Given the description of an element on the screen output the (x, y) to click on. 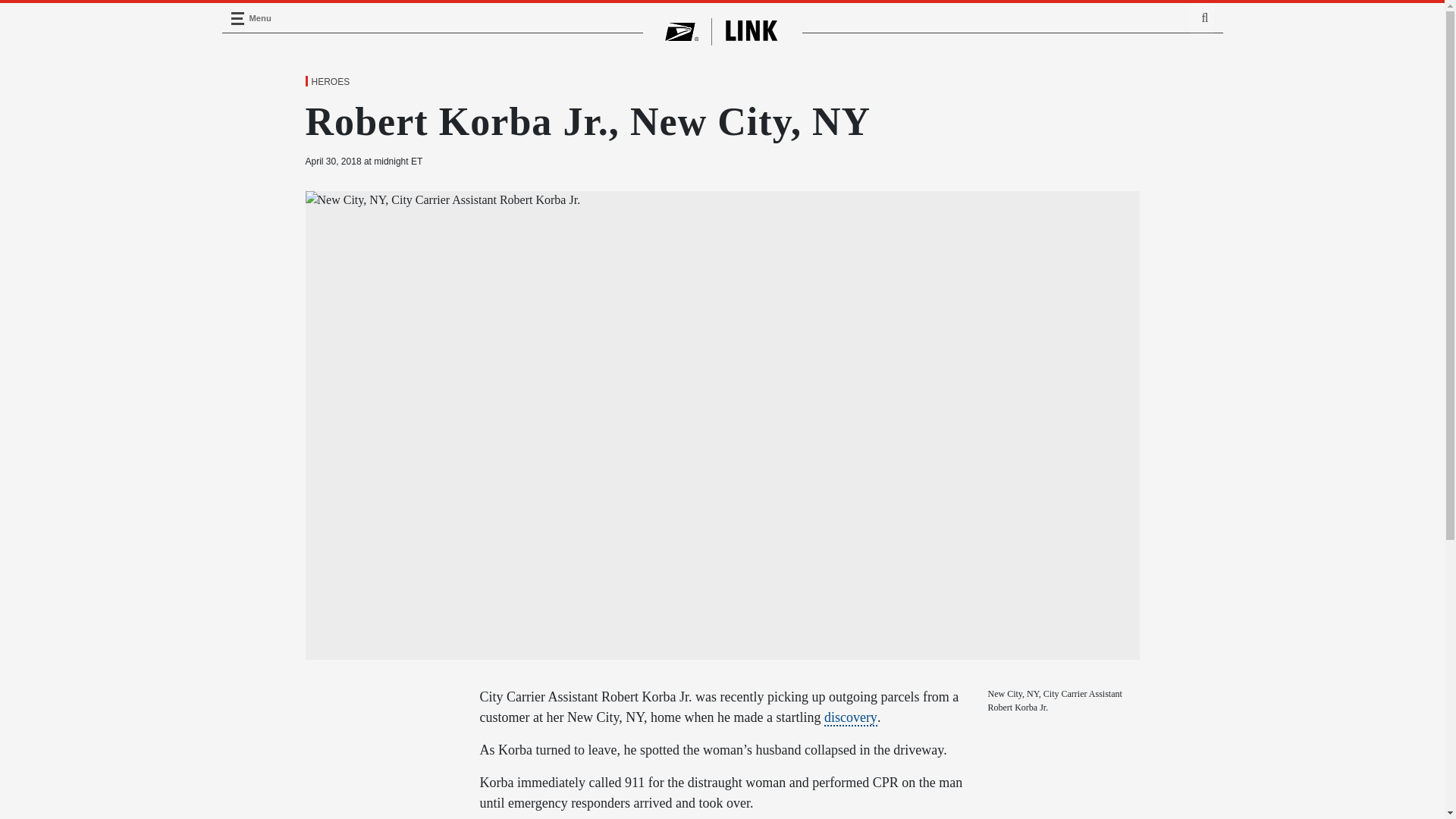
Menu (237, 18)
discovery (850, 718)
HEROES (329, 81)
